Given the description of an element on the screen output the (x, y) to click on. 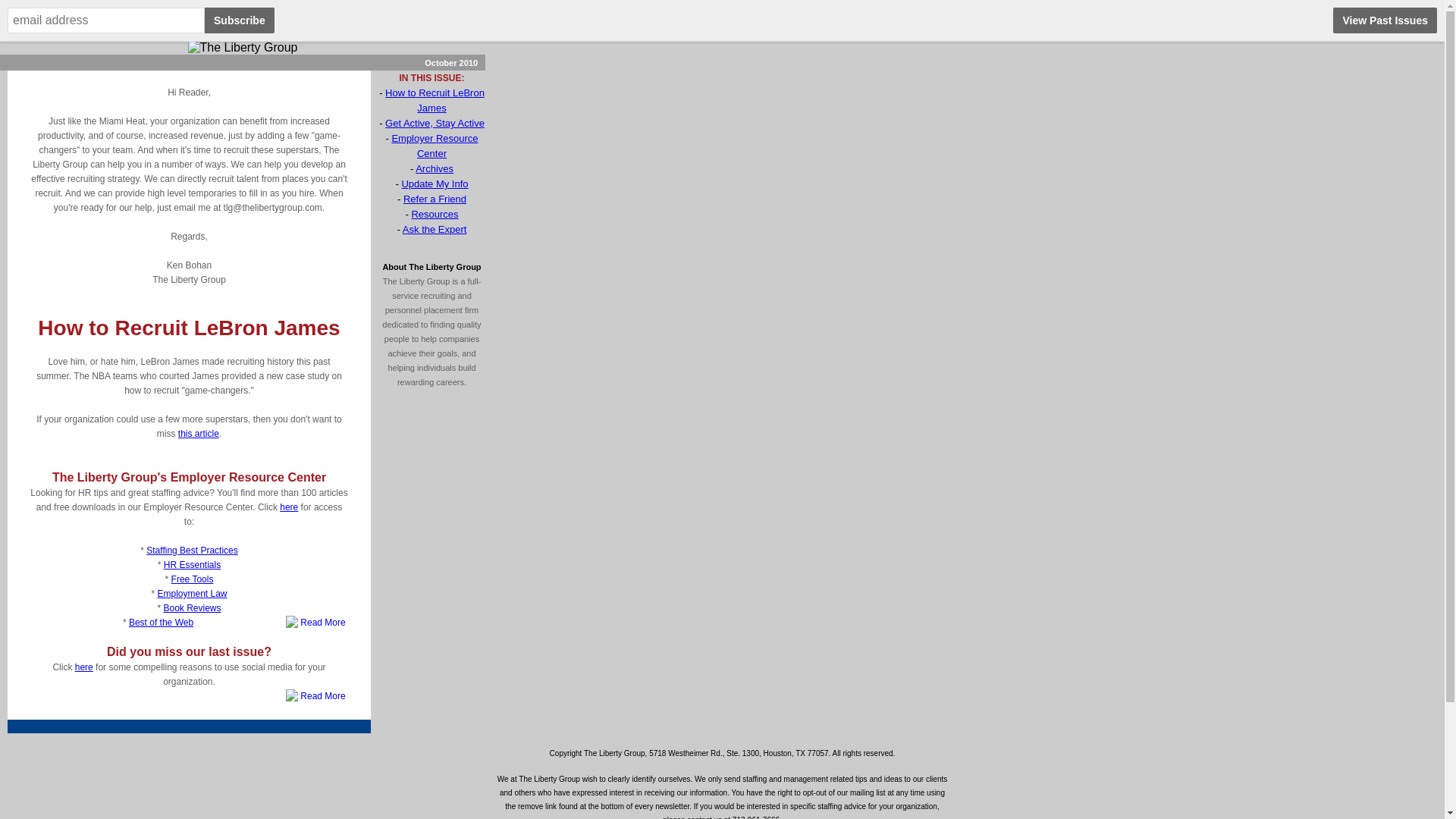
Ask the Expert (435, 229)
Employment Law (192, 593)
this article (198, 433)
Refer a Friend (434, 198)
Archives (433, 168)
Free Tools (192, 579)
Resources (434, 214)
Staffing Best Practices (192, 550)
Employer Resource Center (434, 145)
here (84, 666)
Update My Info (434, 183)
HR Essentials (192, 564)
Subscribe (240, 20)
Subscribe (240, 20)
How to Recruit LeBron James (434, 99)
